Given the description of an element on the screen output the (x, y) to click on. 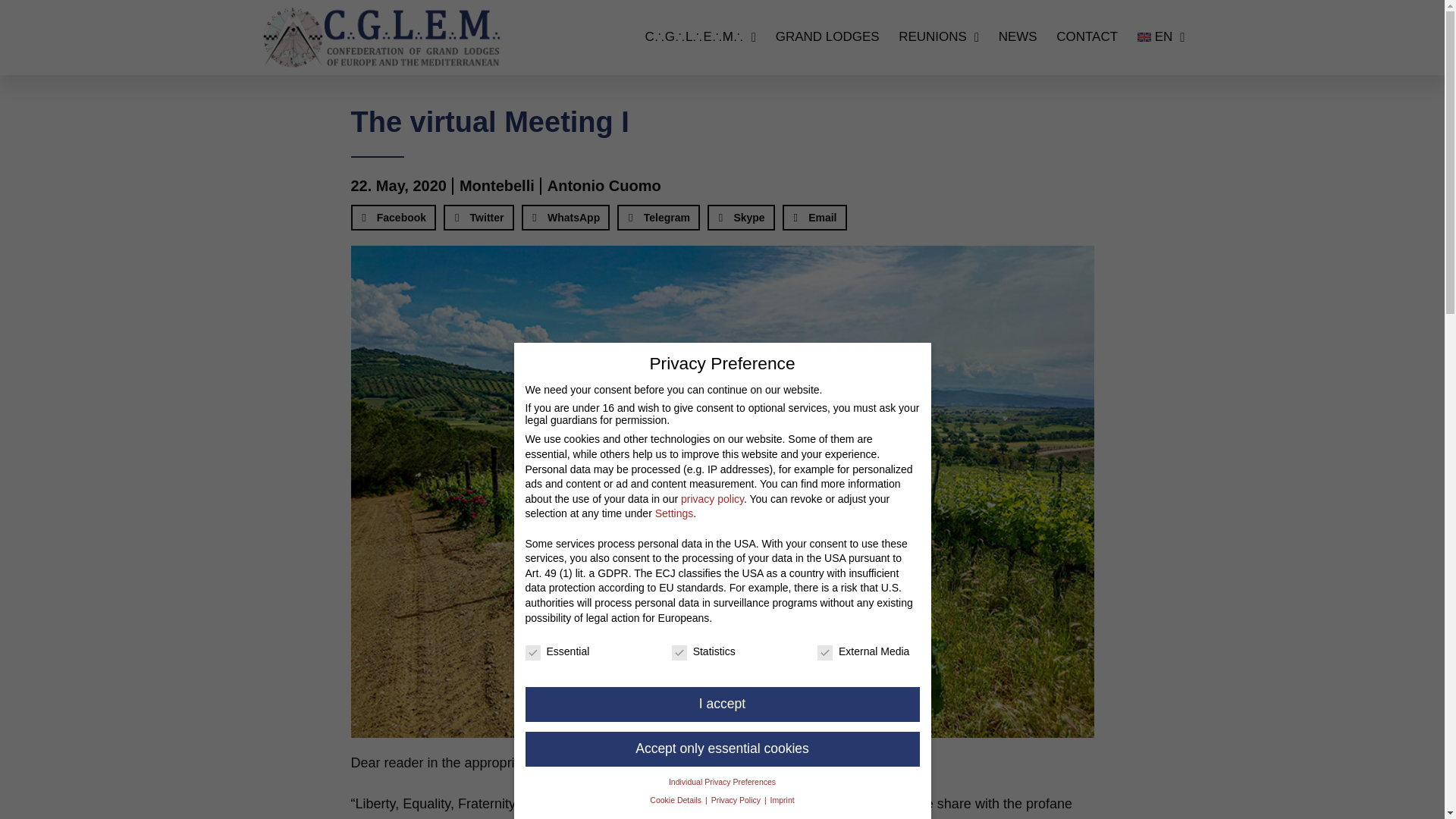
CONTACT (1087, 37)
REUNIONS (938, 37)
EN (1161, 37)
EN (1161, 37)
NEWS (1017, 37)
GRAND LODGES (827, 37)
